Given the description of an element on the screen output the (x, y) to click on. 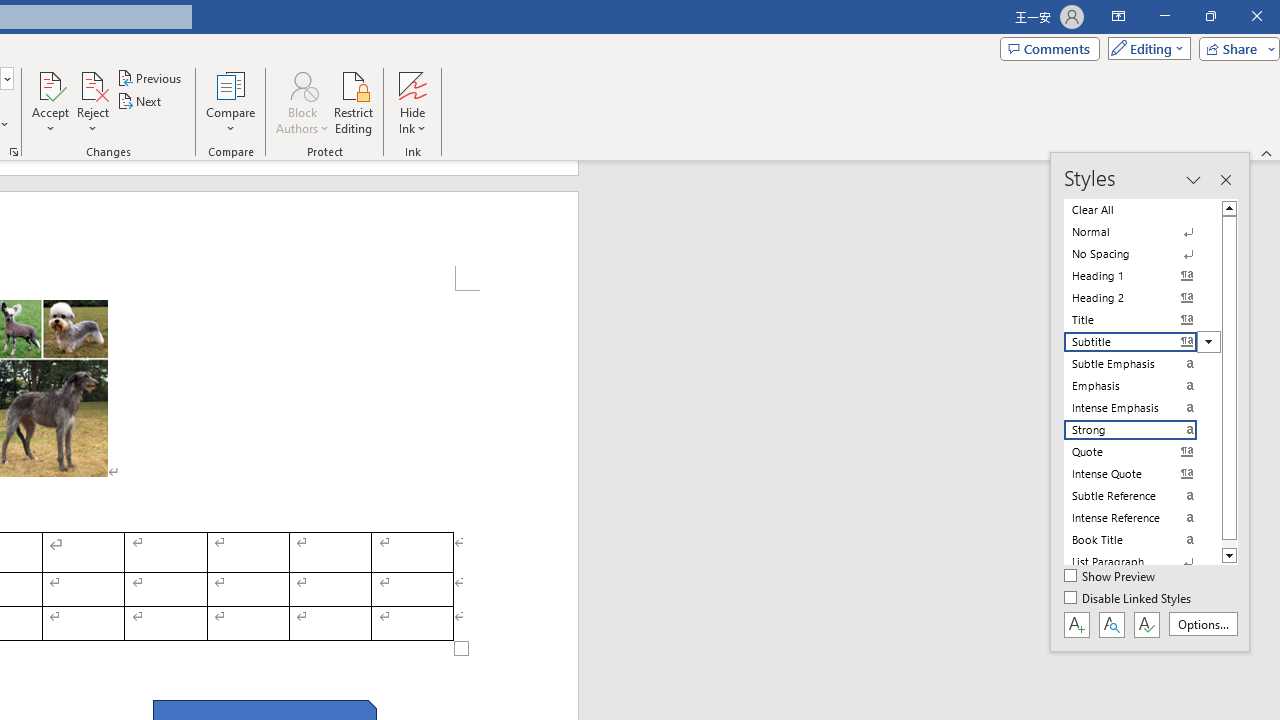
Disable Linked Styles (1129, 599)
List Paragraph (1142, 561)
Options... (1202, 623)
Subtitle (1142, 341)
